Given the description of an element on the screen output the (x, y) to click on. 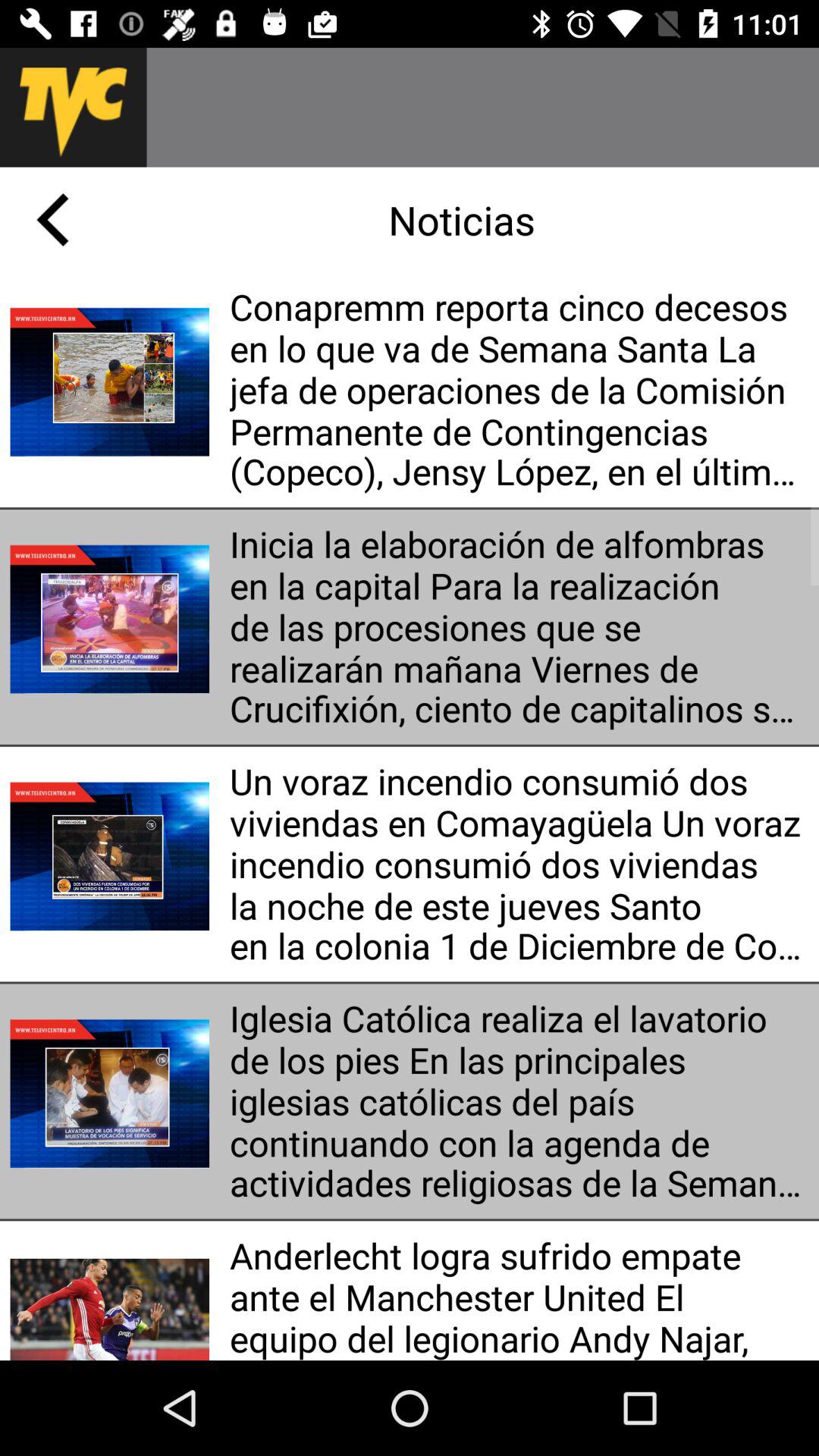
swipe until un voraz incendio item (518, 864)
